Given the description of an element on the screen output the (x, y) to click on. 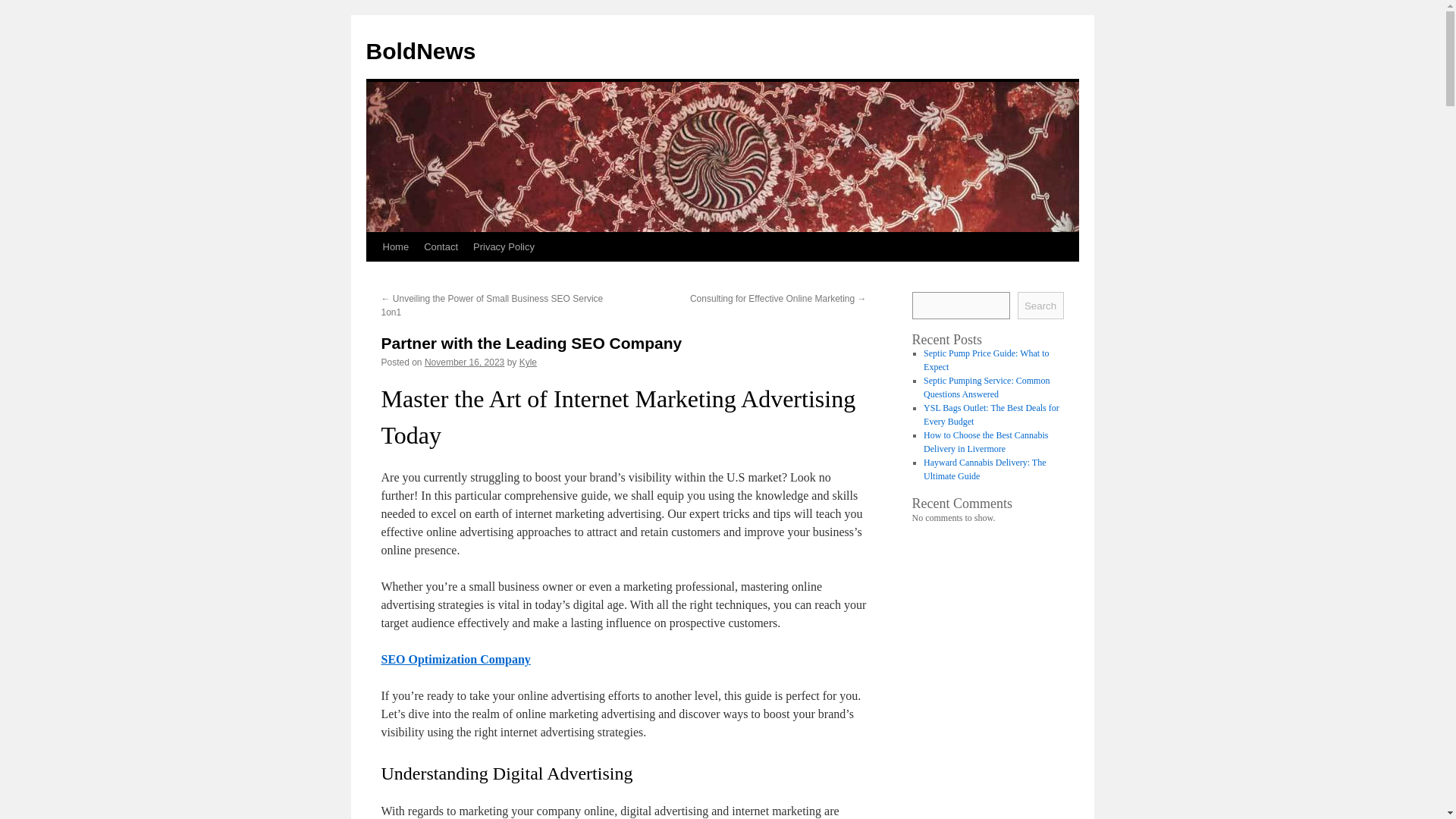
Hayward Cannabis Delivery: The Ultimate Guide (984, 469)
How to Choose the Best Cannabis Delivery in Livermore (985, 441)
Search (1040, 305)
YSL Bags Outlet: The Best Deals for Every Budget (991, 414)
Septic Pump Price Guide: What to Expect (985, 360)
Septic Pumping Service: Common Questions Answered (986, 387)
Home (395, 246)
Privacy Policy (503, 246)
BoldNews (420, 50)
View all posts by Kyle (528, 362)
